Given the description of an element on the screen output the (x, y) to click on. 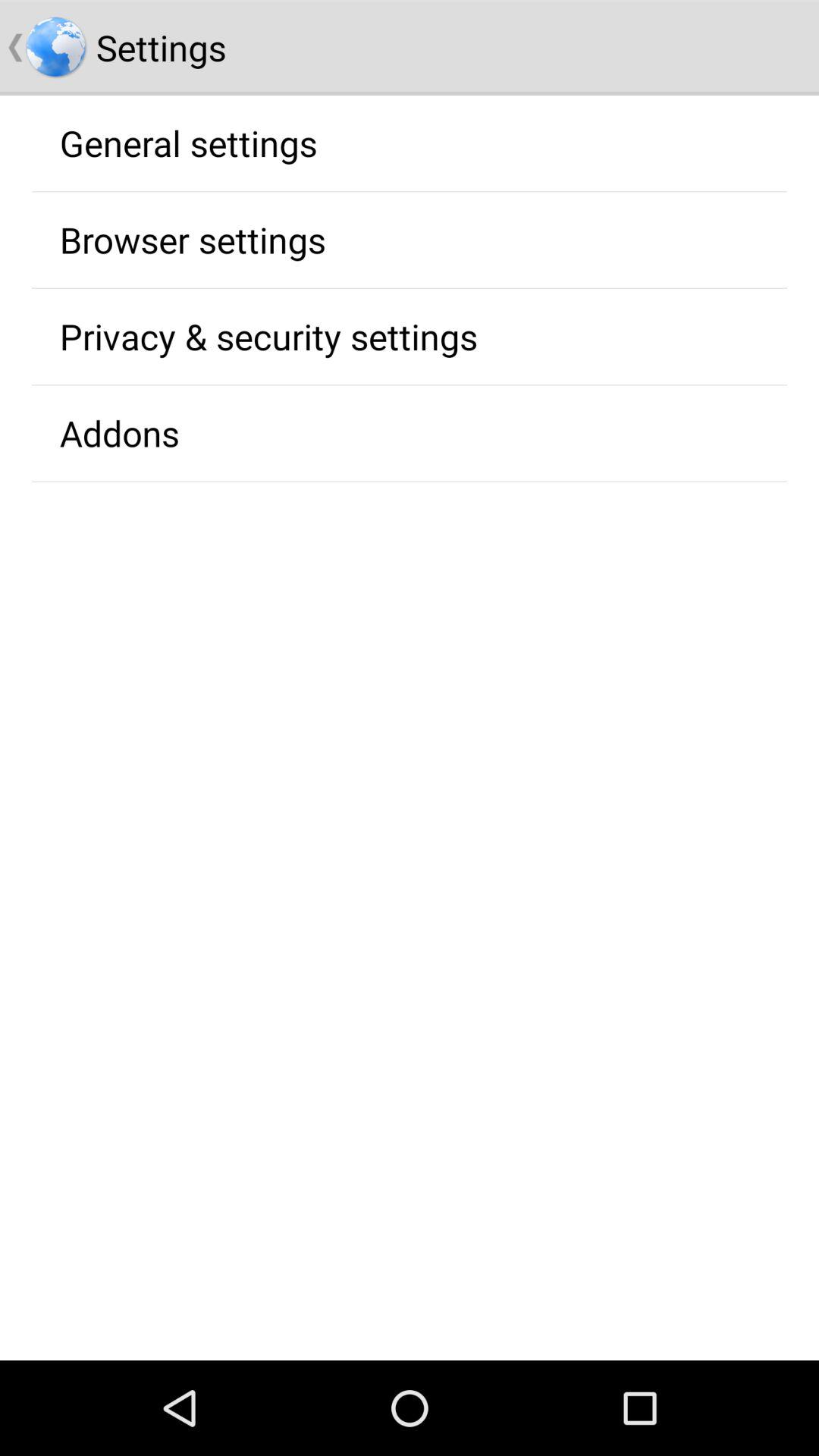
click app above addons icon (268, 336)
